Given the description of an element on the screen output the (x, y) to click on. 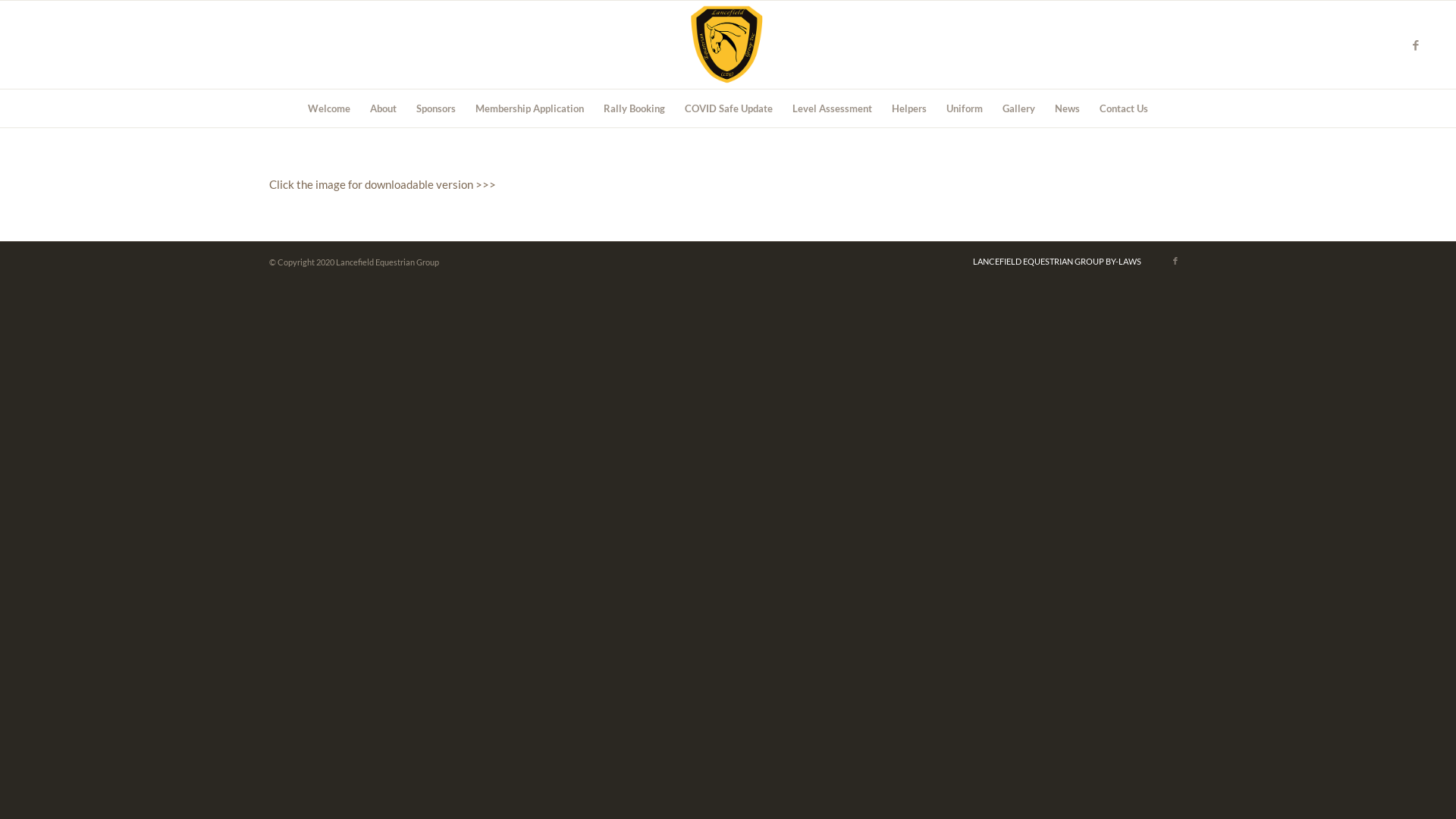
Level Assessment Element type: text (831, 108)
About Element type: text (383, 108)
Uniform Element type: text (964, 108)
LEG Logo High def Element type: hover (727, 44)
Welcome Element type: text (329, 108)
Rally Booking Element type: text (633, 108)
Facebook Element type: hover (1415, 44)
Facebook Element type: hover (1175, 260)
Gallery Element type: text (1018, 108)
Helpers Element type: text (908, 108)
Membership Application Element type: text (529, 108)
News Element type: text (1066, 108)
COVID Safe Update Element type: text (728, 108)
Sponsors Element type: text (435, 108)
LANCEFIELD EQUESTRIAN GROUP BY-LAWS Element type: text (1056, 261)
Contact Us Element type: text (1123, 108)
